Given the description of an element on the screen output the (x, y) to click on. 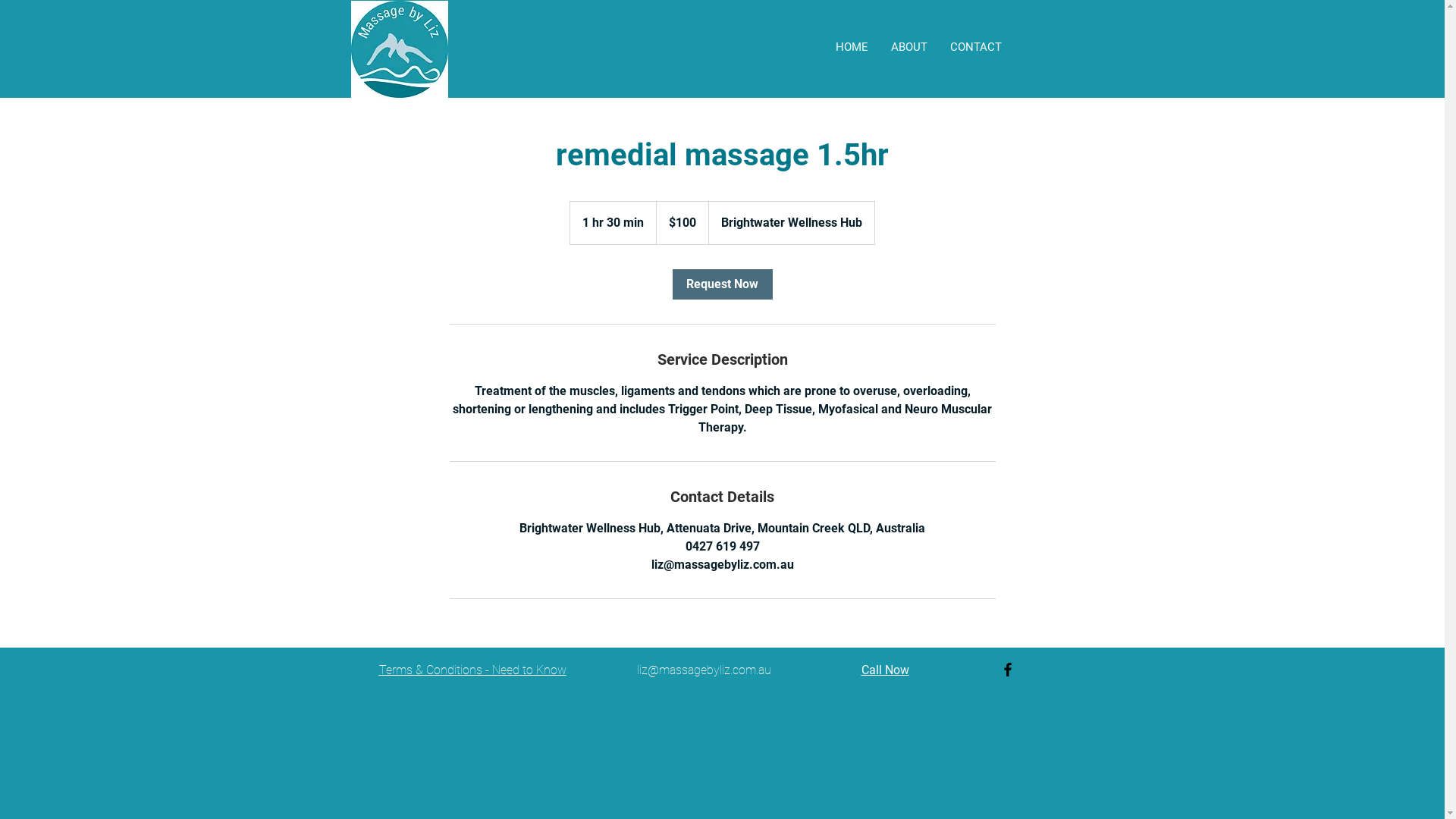
liz@massagebyliz.com.au Element type: text (704, 669)
Terms & Conditions - Need to Know Element type: text (472, 670)
HOME Element type: text (850, 46)
CONTACT Element type: text (975, 46)
Call Now Element type: text (885, 670)
FB profile logo_wtitle.jpg Element type: hover (398, 48)
ABOUT Element type: text (908, 46)
Request Now Element type: text (721, 284)
